Given the description of an element on the screen output the (x, y) to click on. 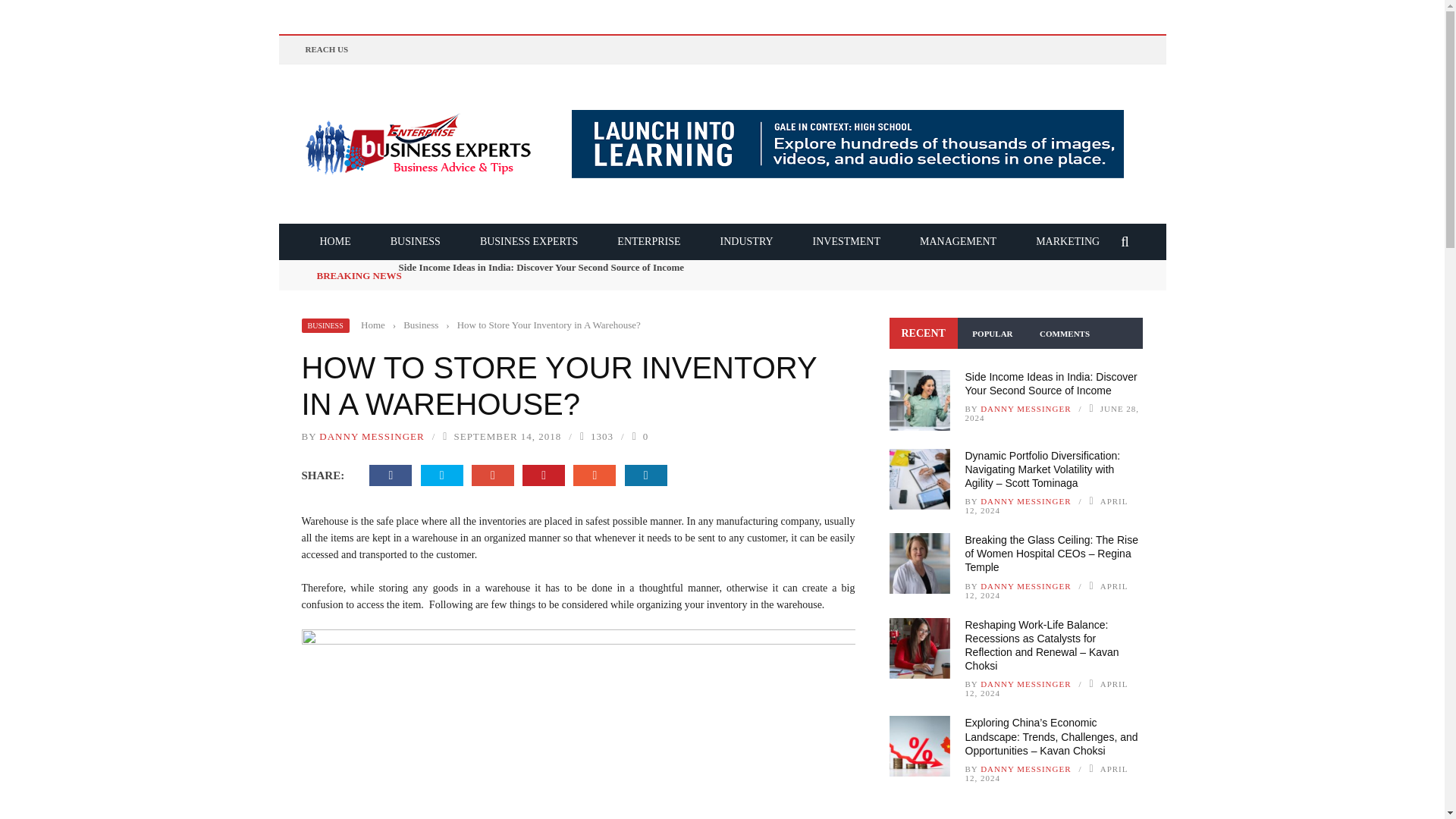
REACH US (325, 49)
BUSINESS EXPERTS (528, 240)
DANNY MESSINGER (370, 436)
Home (373, 324)
HOME (335, 240)
MARKETING (1067, 240)
ENTERPRISE (648, 240)
INDUSTRY (746, 240)
Business (420, 324)
